Given the description of an element on the screen output the (x, y) to click on. 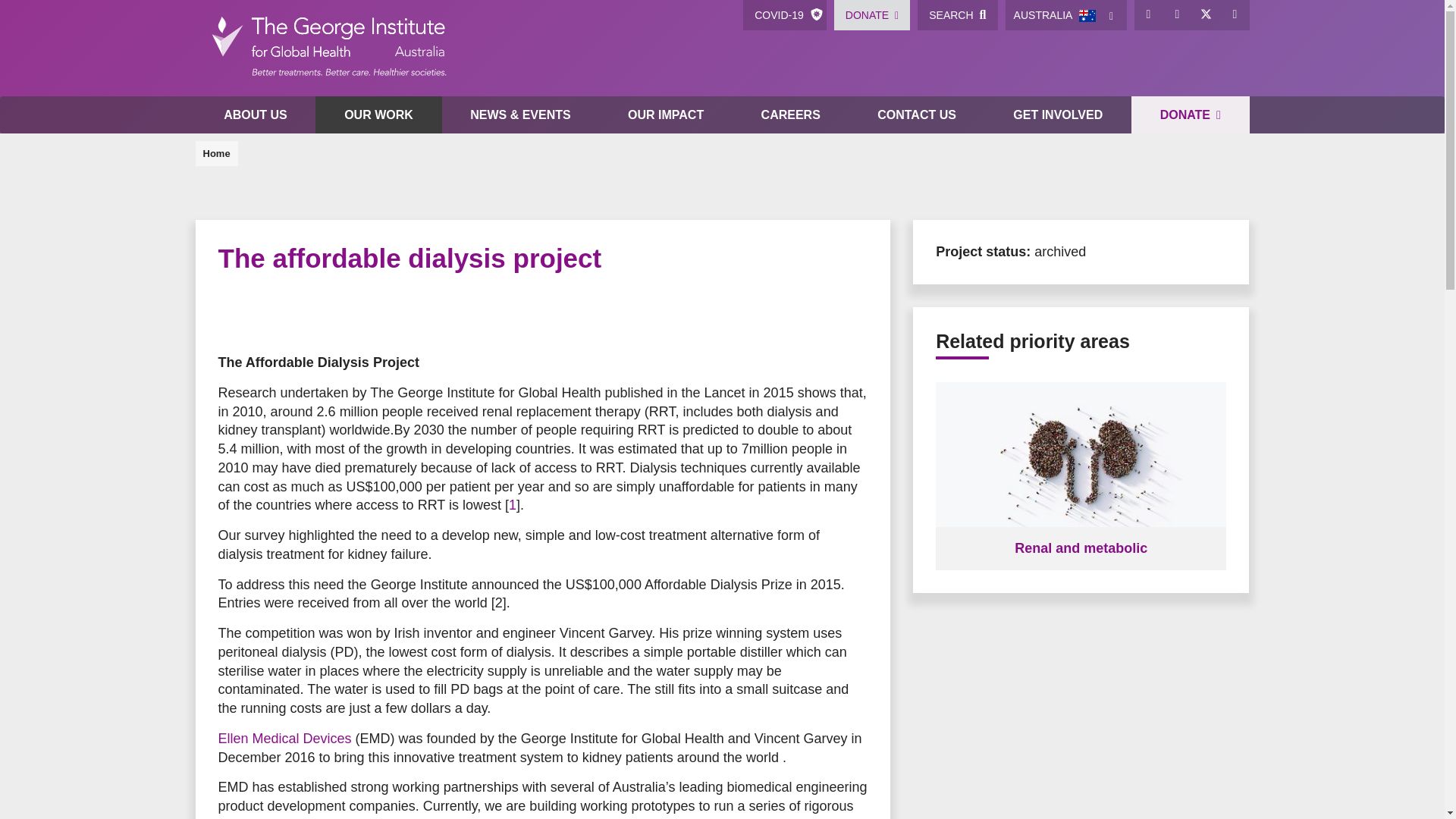
SEARCH (957, 15)
Share to Facebook (233, 313)
Select country (1111, 15)
Home (328, 48)
Share to WhatsApp (293, 313)
OUR WORK (378, 114)
COVID-19 (784, 15)
DONATE (872, 15)
YouTube (1235, 15)
Twitter (1206, 15)
